Given the description of an element on the screen output the (x, y) to click on. 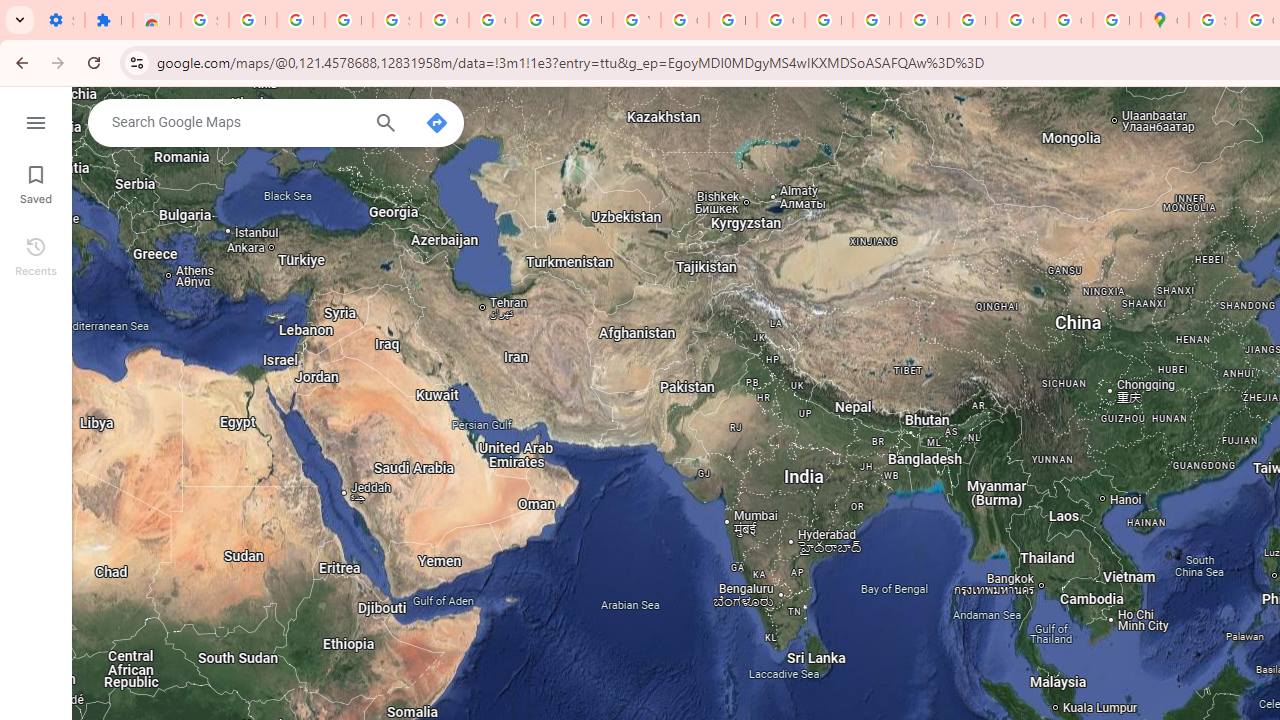
Google Account Help (492, 20)
Google Maps (1164, 20)
Extensions (108, 20)
Forward (57, 62)
YouTube (636, 20)
https://scholar.google.com/ (732, 20)
Back (19, 62)
Search (385, 125)
Reviews: Helix Fruit Jump Arcade Game (156, 20)
View site information (136, 62)
Google Account Help (444, 20)
